Given the description of an element on the screen output the (x, y) to click on. 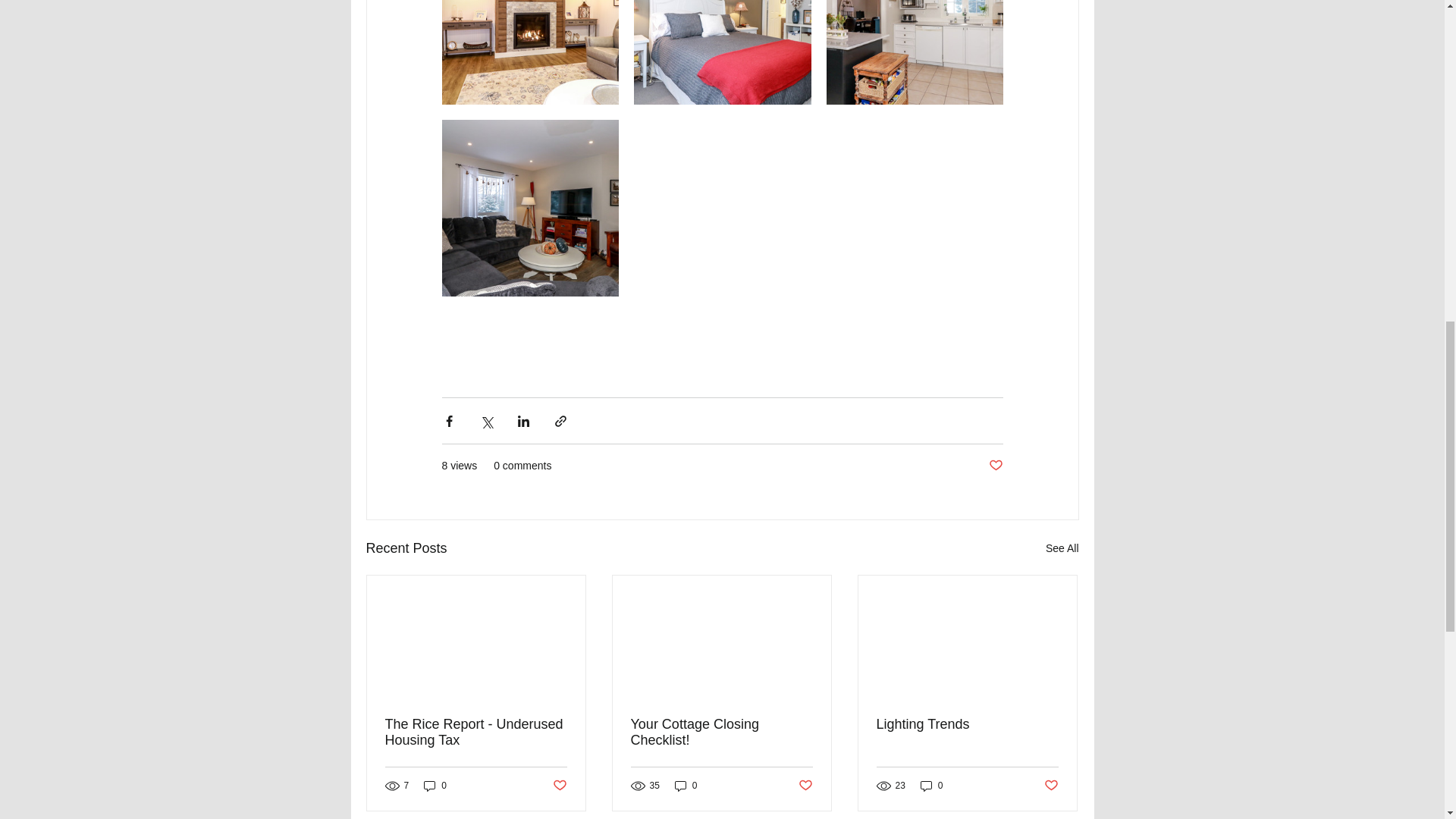
Post not marked as liked (558, 785)
Lighting Trends (967, 724)
Post not marked as liked (995, 465)
Post not marked as liked (1050, 785)
See All (1061, 548)
Post not marked as liked (804, 785)
0 (931, 785)
The Rice Report - Underused Housing Tax (476, 732)
Your Cottage Closing Checklist! (721, 732)
0 (685, 785)
0 (435, 785)
